Given the description of an element on the screen output the (x, y) to click on. 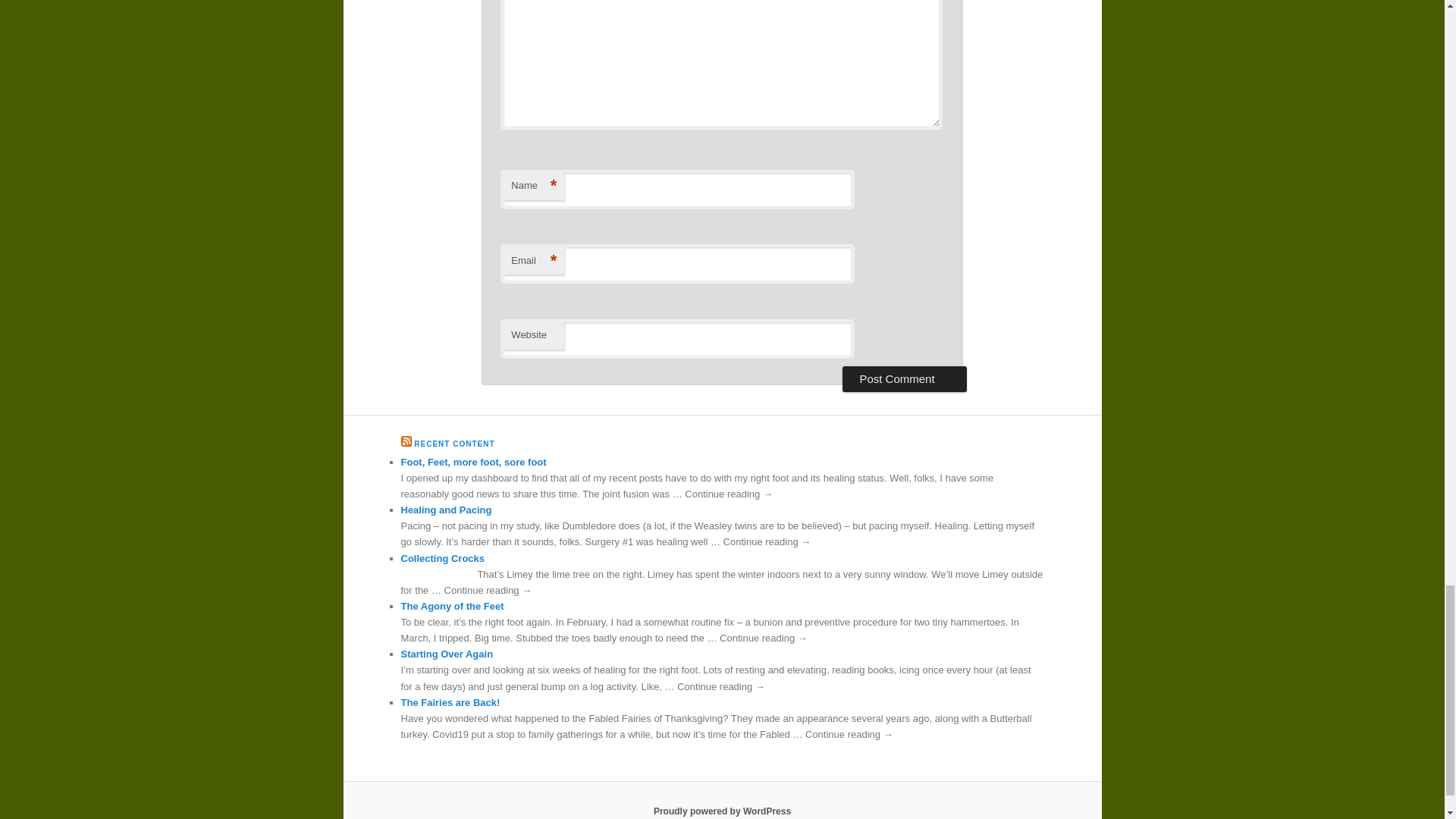
RECENT CONTENT (454, 443)
Collecting Crocks (442, 558)
Foot, Feet, more foot, sore foot (473, 461)
Semantic Personal Publishing Platform (721, 810)
The Agony of the Feet (451, 605)
The Fairies are Back! (449, 702)
Healing and Pacing (446, 509)
Post Comment (904, 379)
Post Comment (904, 379)
Starting Over Again (446, 654)
